Given the description of an element on the screen output the (x, y) to click on. 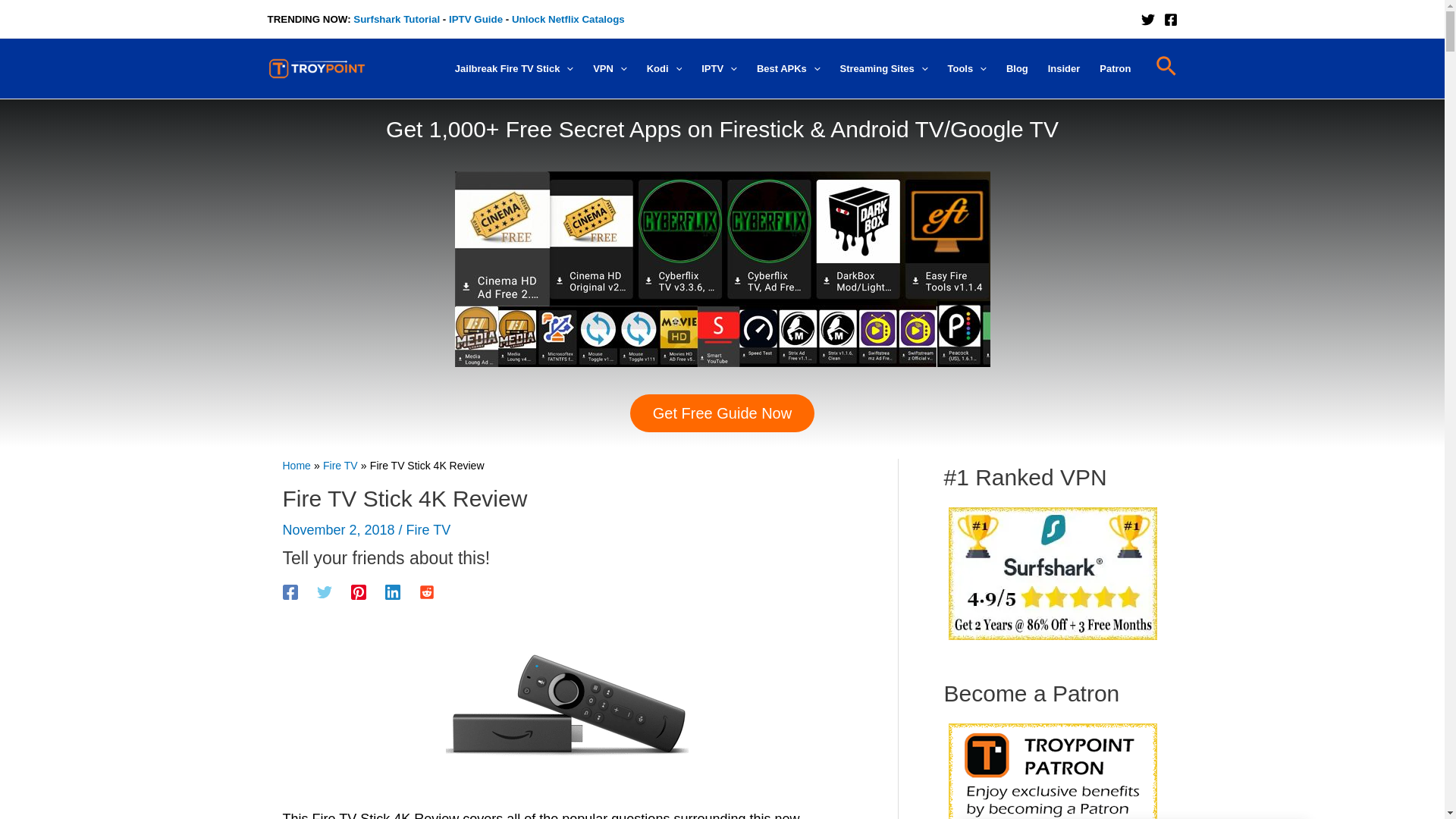
VPN (609, 68)
IPTV (718, 68)
Jailbreak Fire TV Stick (514, 68)
Surfshark Tutorial (396, 19)
IPTV Guide (475, 19)
Kodi (665, 68)
Unlock Netflix Catalogs (568, 19)
Best APKs (787, 68)
